Given the description of an element on the screen output the (x, y) to click on. 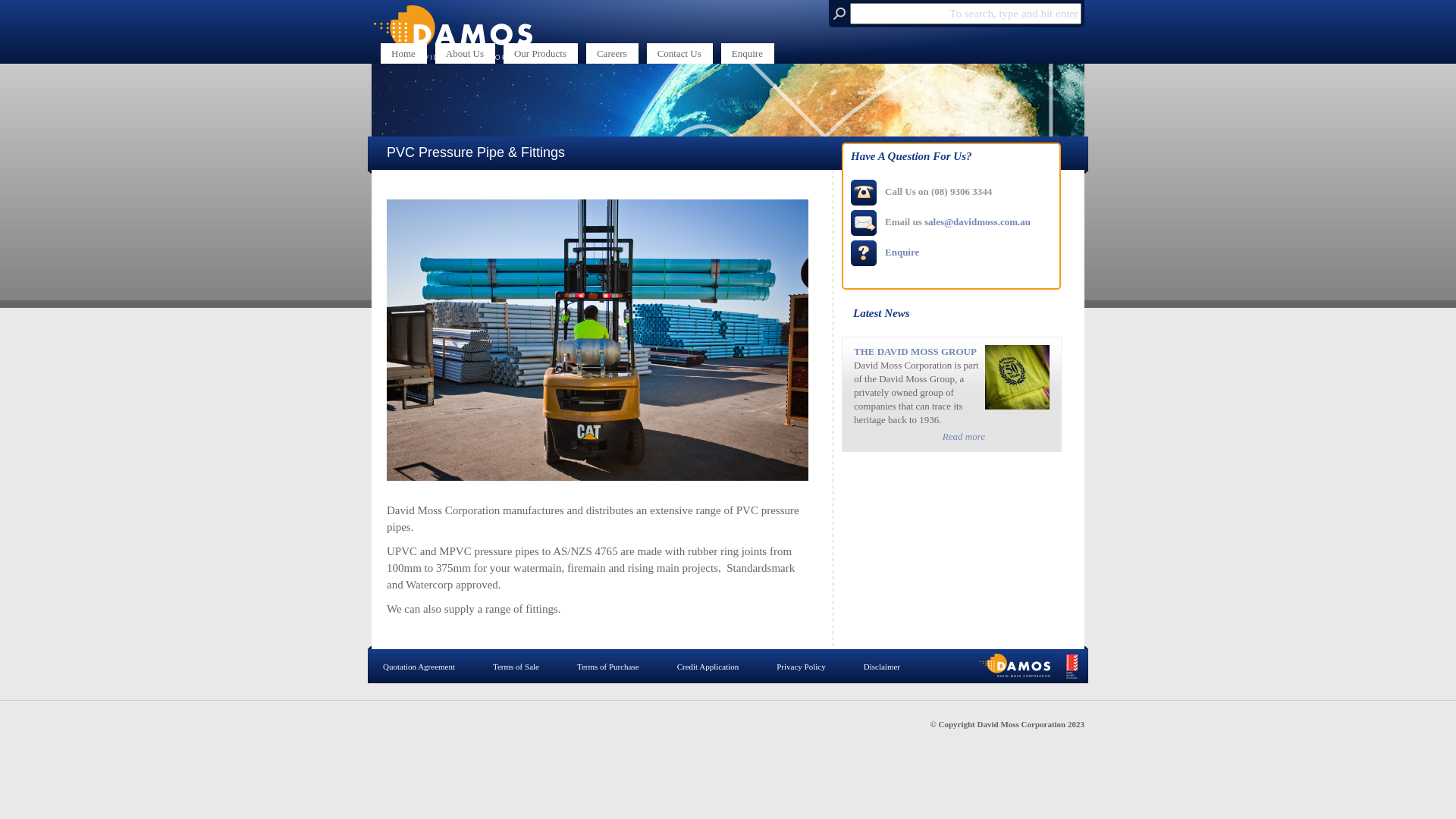
Our Products Element type: text (539, 53)
Home Element type: text (402, 53)
Search Element type: text (21, 8)
Terms of Sale Element type: text (515, 666)
sales@davidmoss.com.au Element type: text (977, 221)
Damos Element type: hover (462, 51)
PVC Pressure Pipe & Fittings Element type: hover (597, 339)
Privacy Policy Element type: text (800, 666)
THE DAVID MOSS GROUP Element type: text (914, 351)
Read more Element type: text (963, 436)
About Us Element type: text (464, 53)
Careers Element type: text (611, 53)
Terms of Purchase Element type: text (608, 666)
David Moss Corporation Element type: hover (462, 31)
Contact Us Element type: text (679, 53)
Enquire Element type: text (747, 53)
Credit Application Element type: text (708, 666)
Enquire Element type: text (901, 251)
Quotation Agreement Element type: text (418, 666)
The David Moss Group Element type: hover (1017, 405)
Disclaimer Element type: text (881, 666)
